Given the description of an element on the screen output the (x, y) to click on. 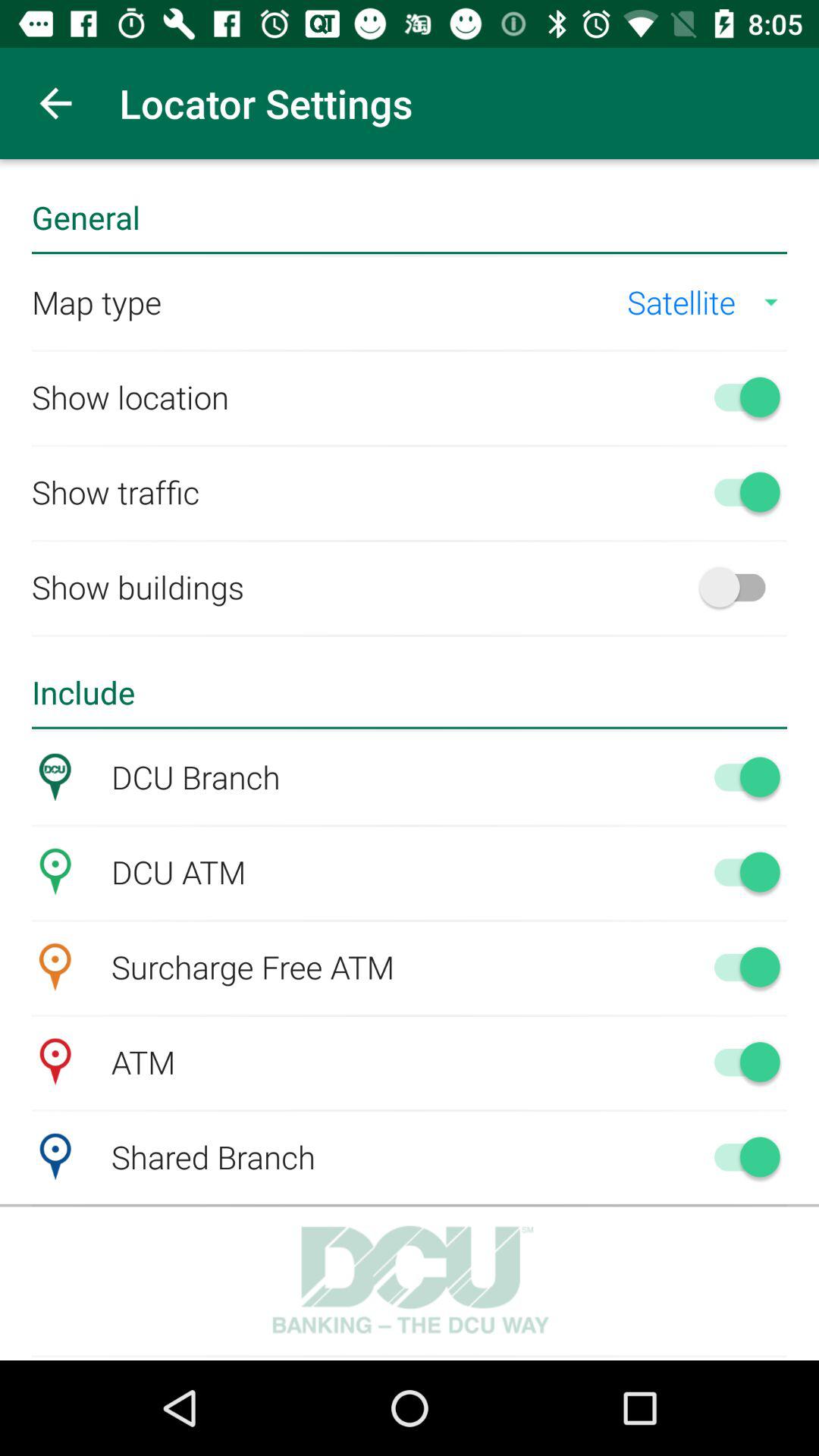
toggle show buildings option (739, 586)
